Given the description of an element on the screen output the (x, y) to click on. 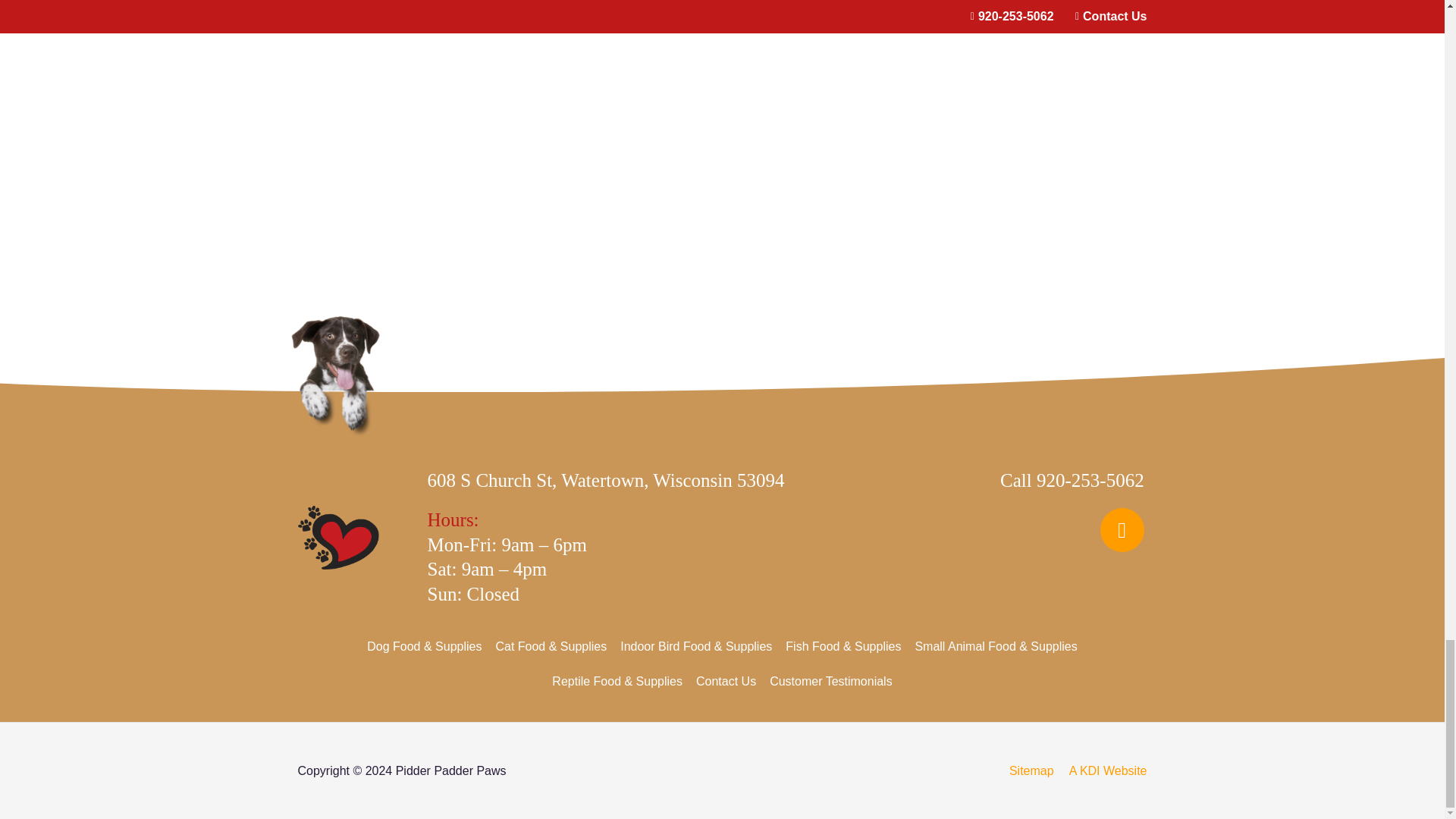
608 S Church St, Watertown, Wisconsin 53094 (606, 480)
Facebook-f (1122, 529)
Call 920-253-5062 (1072, 480)
